Given the description of an element on the screen output the (x, y) to click on. 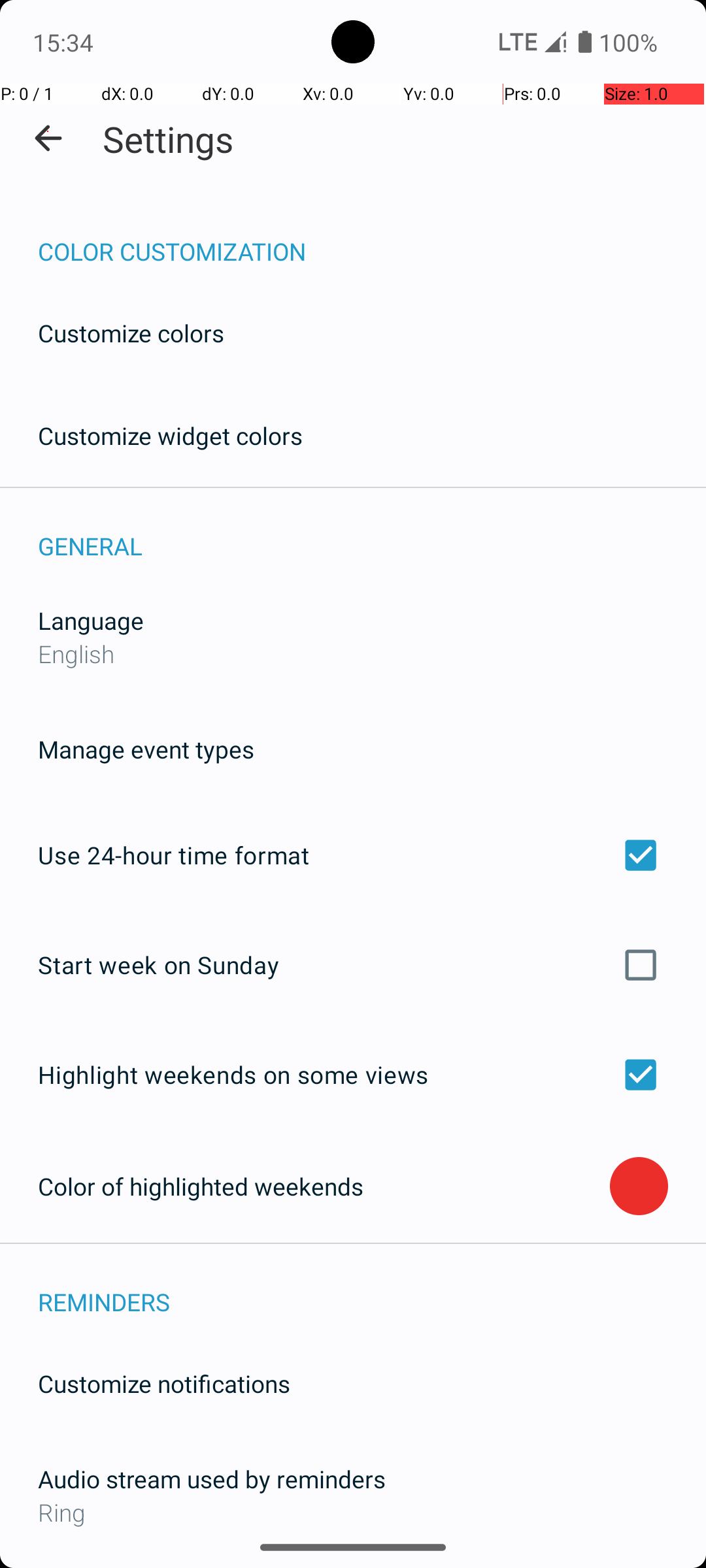
Color of highlighted weekends Element type: android.widget.TextView (323, 1186)
Ring Element type: android.widget.TextView (352, 1511)
